Given the description of an element on the screen output the (x, y) to click on. 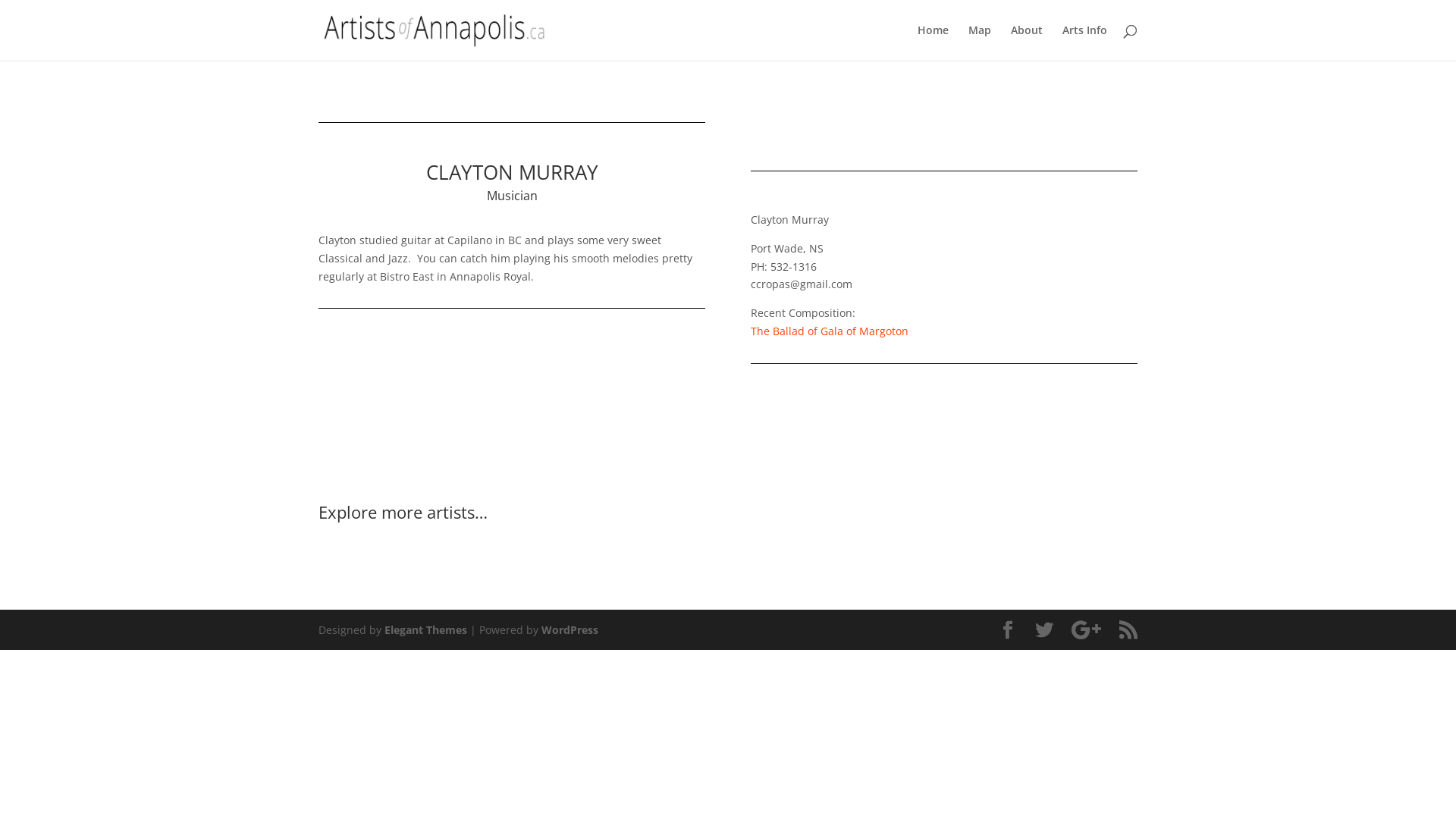
Elegant Themes Element type: text (425, 629)
The Ballad of Gala of Margoton Element type: text (829, 330)
Home Element type: text (932, 42)
WordPress Element type: text (569, 629)
Map Element type: text (979, 42)
Arts Info Element type: text (1084, 42)
About Element type: text (1026, 42)
